Given the description of an element on the screen output the (x, y) to click on. 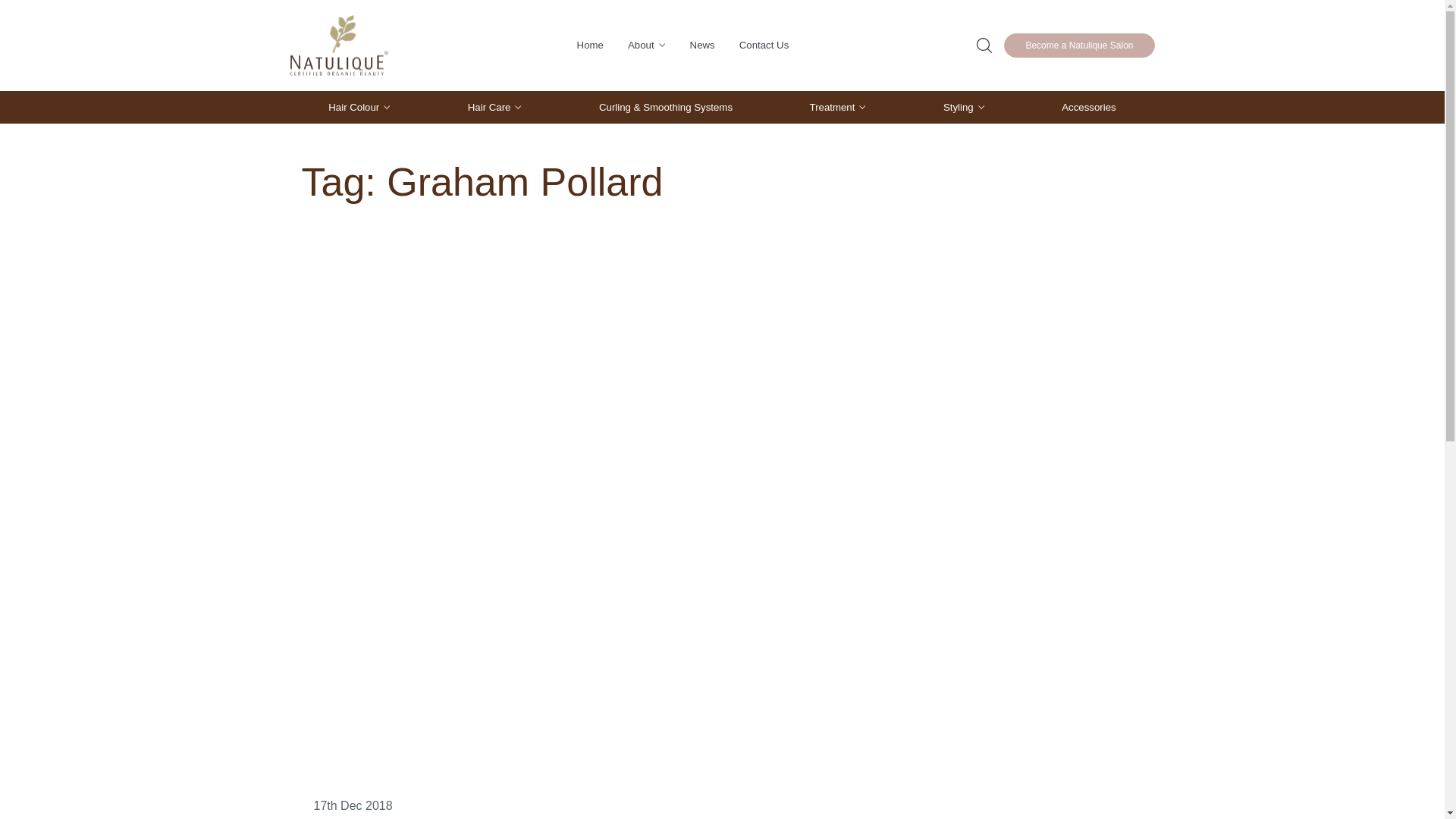
Become a Natulique Salon Element type: text (1079, 45)
Home Element type: text (589, 45)
Contact Us Element type: text (764, 45)
About Element type: text (646, 45)
Styling Element type: text (964, 107)
News Element type: text (702, 45)
Treatment Element type: text (837, 107)
Curling & Smoothing Systems Element type: text (665, 107)
Hair Care Element type: text (494, 107)
Natulique Element type: text (338, 45)
Hair Colour Element type: text (359, 107)
Accessories Element type: text (1088, 107)
